Given the description of an element on the screen output the (x, y) to click on. 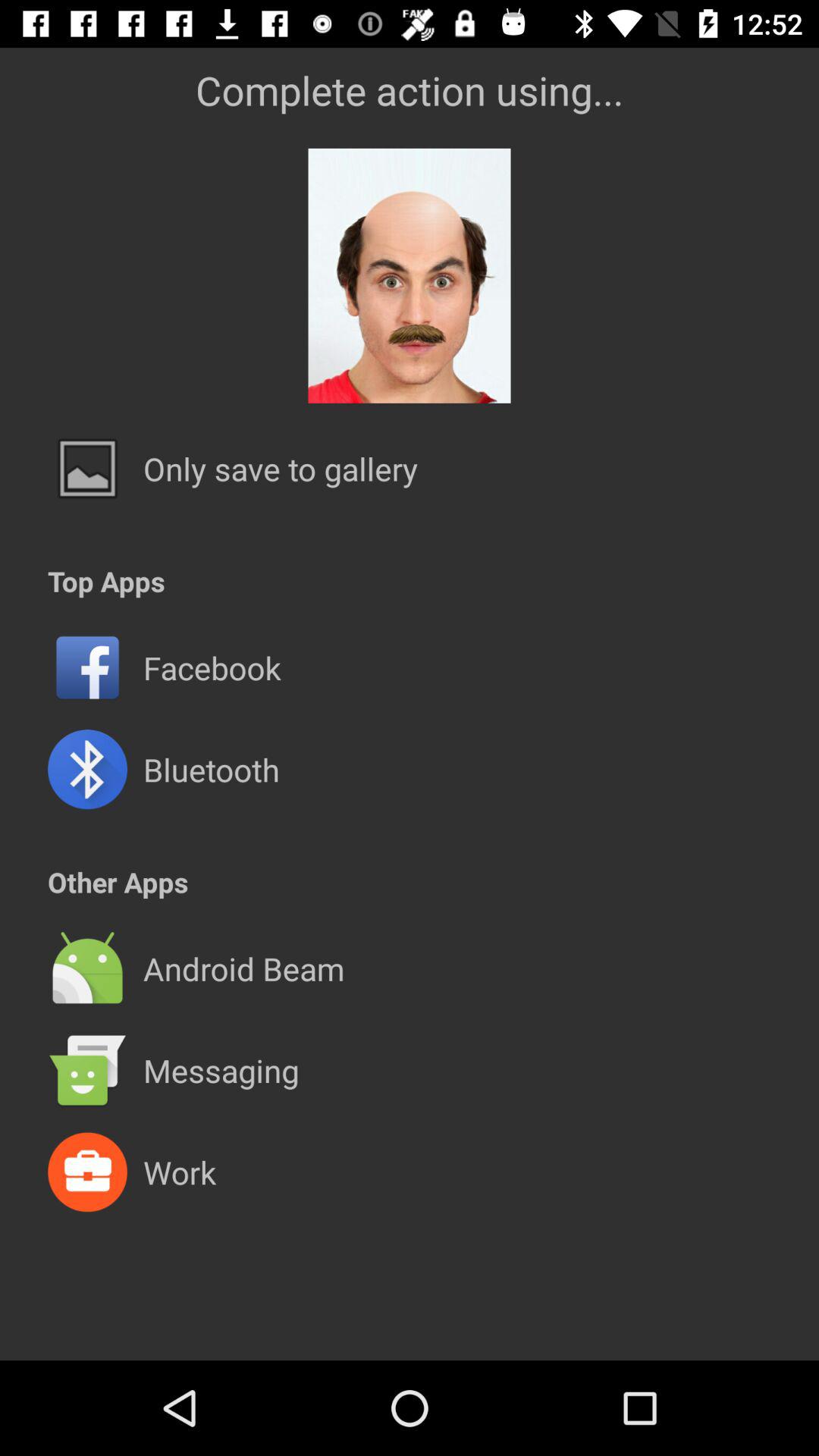
flip to the top apps app (105, 581)
